Given the description of an element on the screen output the (x, y) to click on. 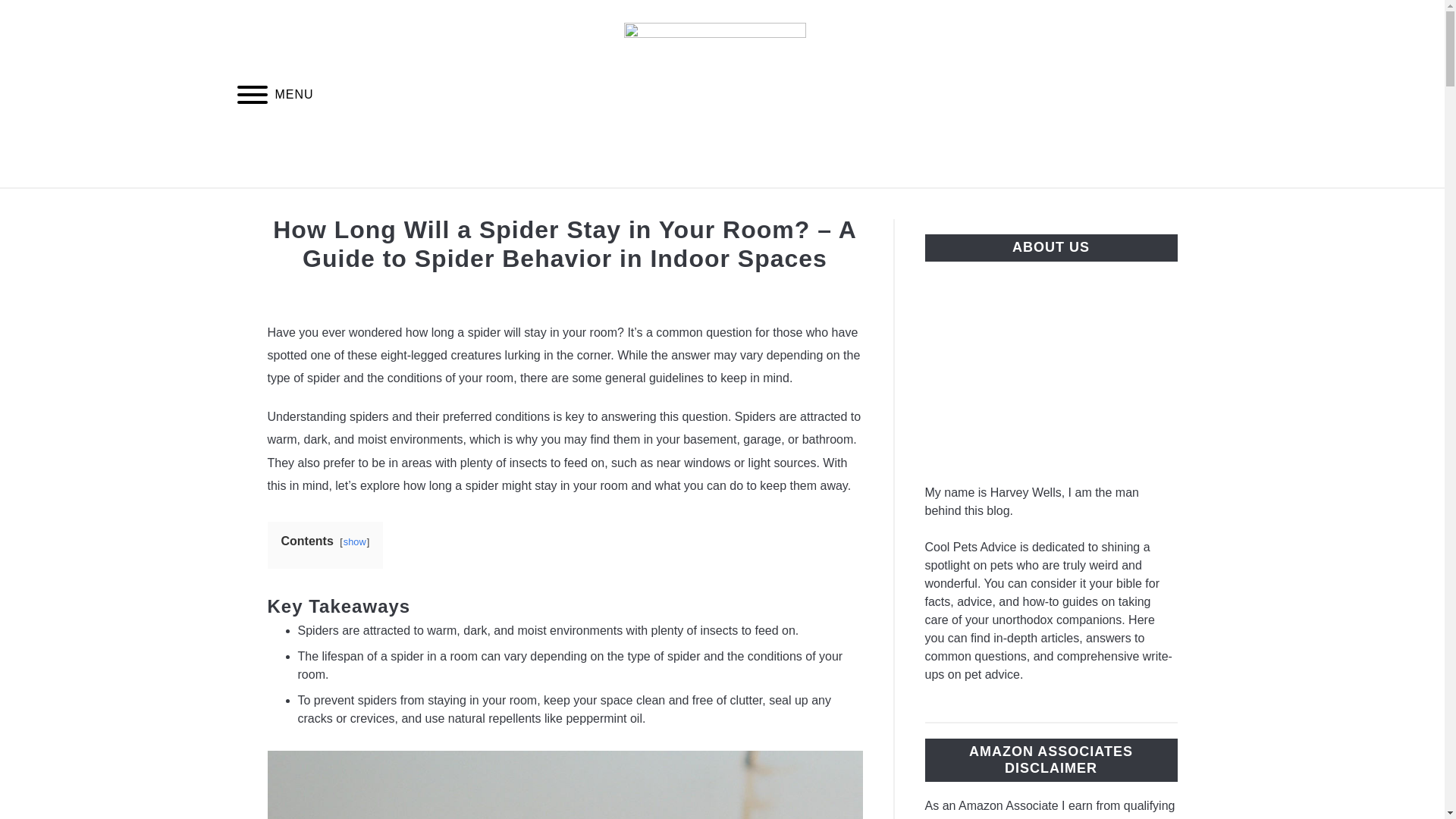
show (354, 541)
FISH (941, 205)
MENU (251, 97)
Search (1203, 92)
HOME (507, 205)
